Given the description of an element on the screen output the (x, y) to click on. 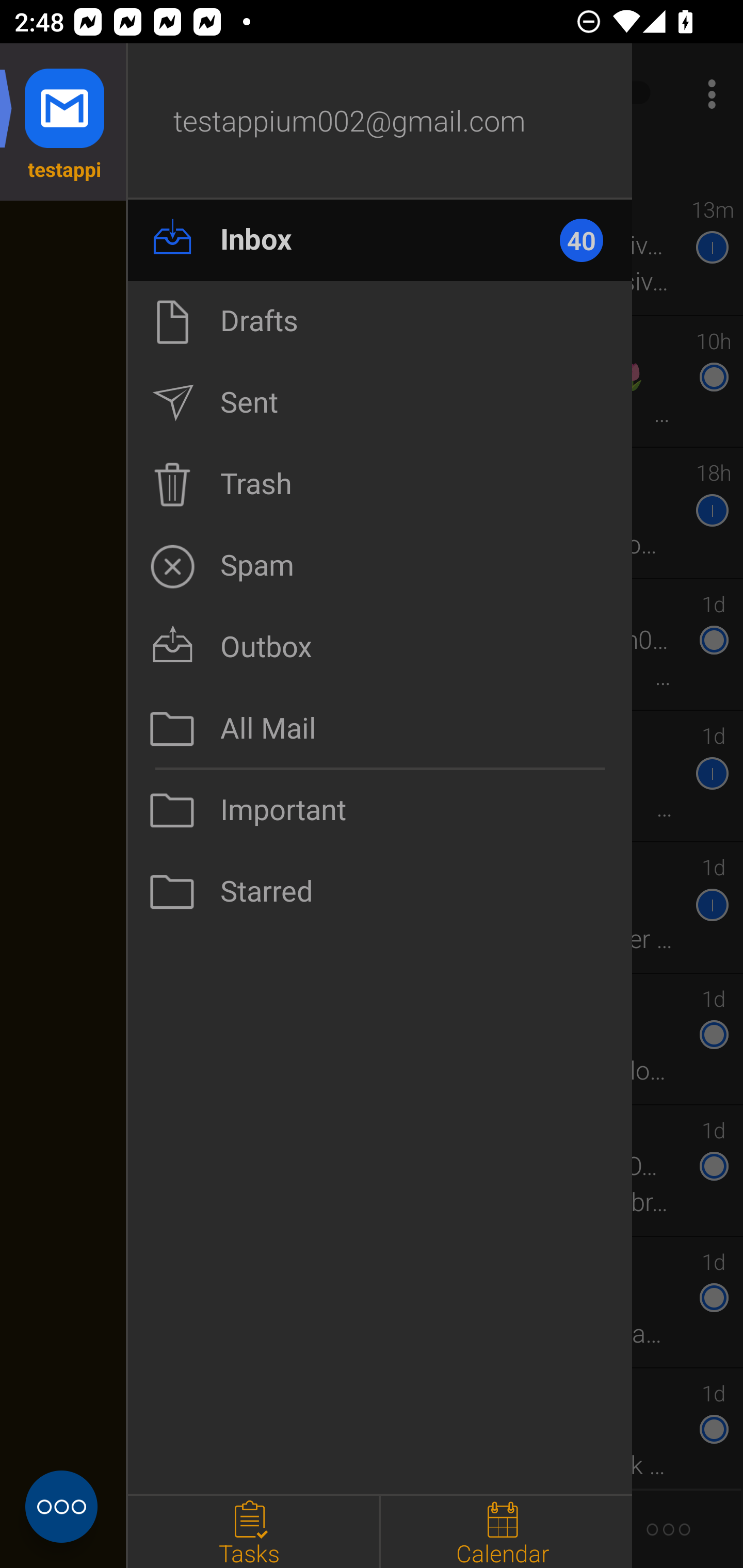
Navigate up (81, 93)
testappium002@gmail.com (379, 121)
More Options (706, 93)
Updated 2:48 PM (371, 164)
Inbox 40 (379, 239)
40 (590, 239)
Drafts (379, 321)
Sent (379, 402)
Trash (379, 484)
Spam (379, 565)
Outbox (379, 647)
All Mail (379, 728)
Important (379, 810)
Starred (379, 891)
